Given the description of an element on the screen output the (x, y) to click on. 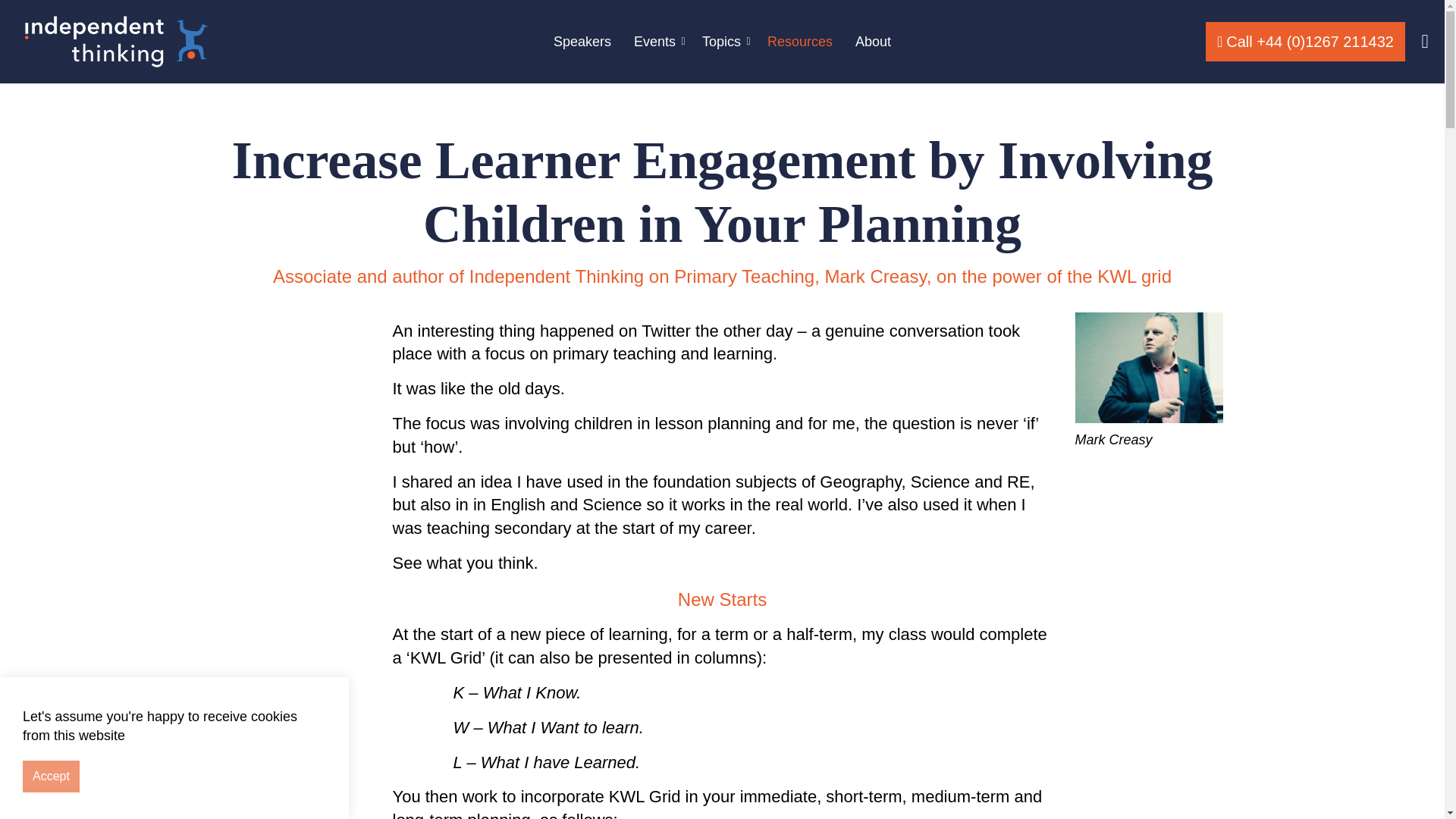
Speakers (582, 41)
Resources (799, 41)
Independent Thinking (115, 41)
